Given the description of an element on the screen output the (x, y) to click on. 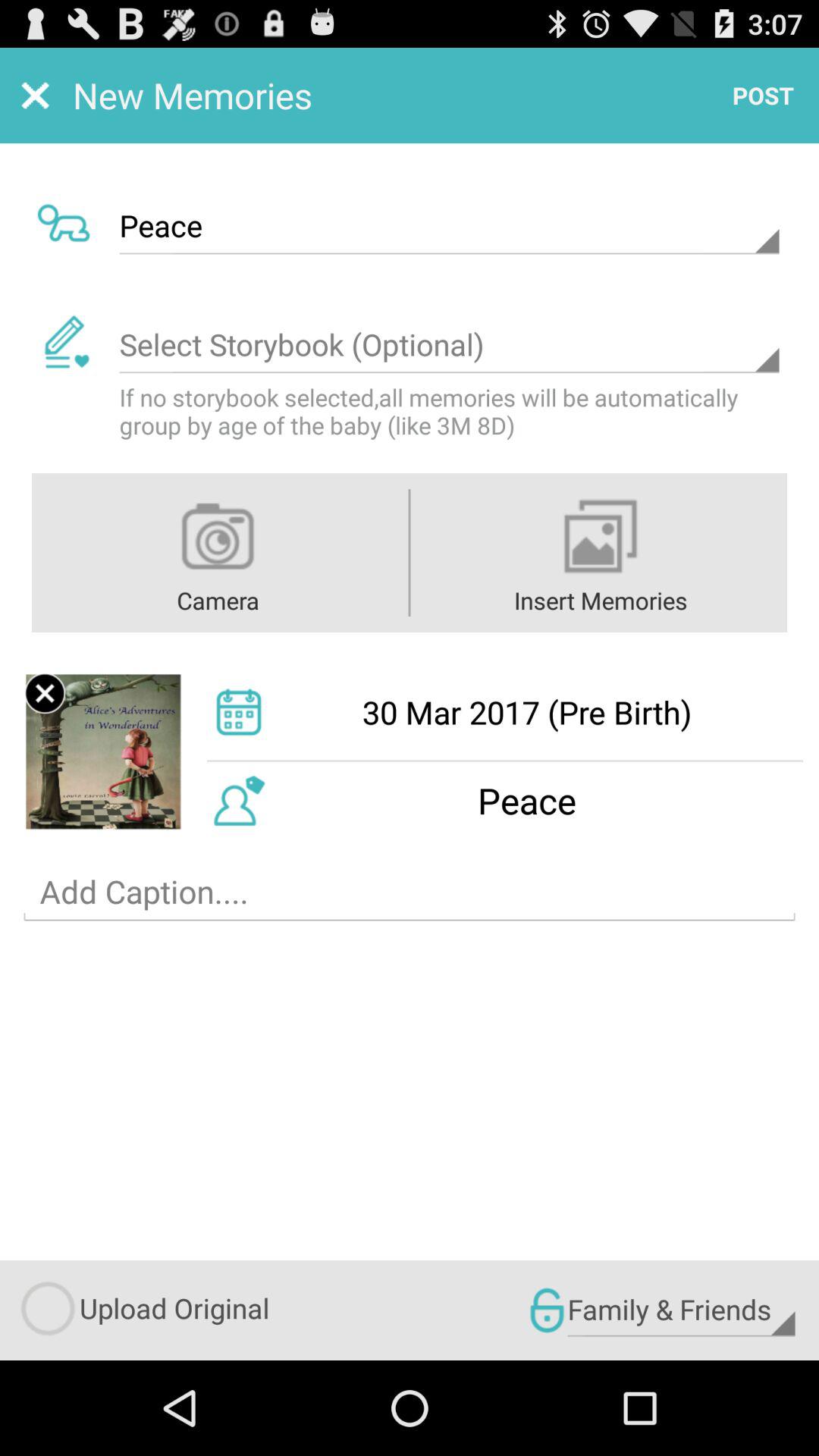
select storybook (449, 345)
